Given the description of an element on the screen output the (x, y) to click on. 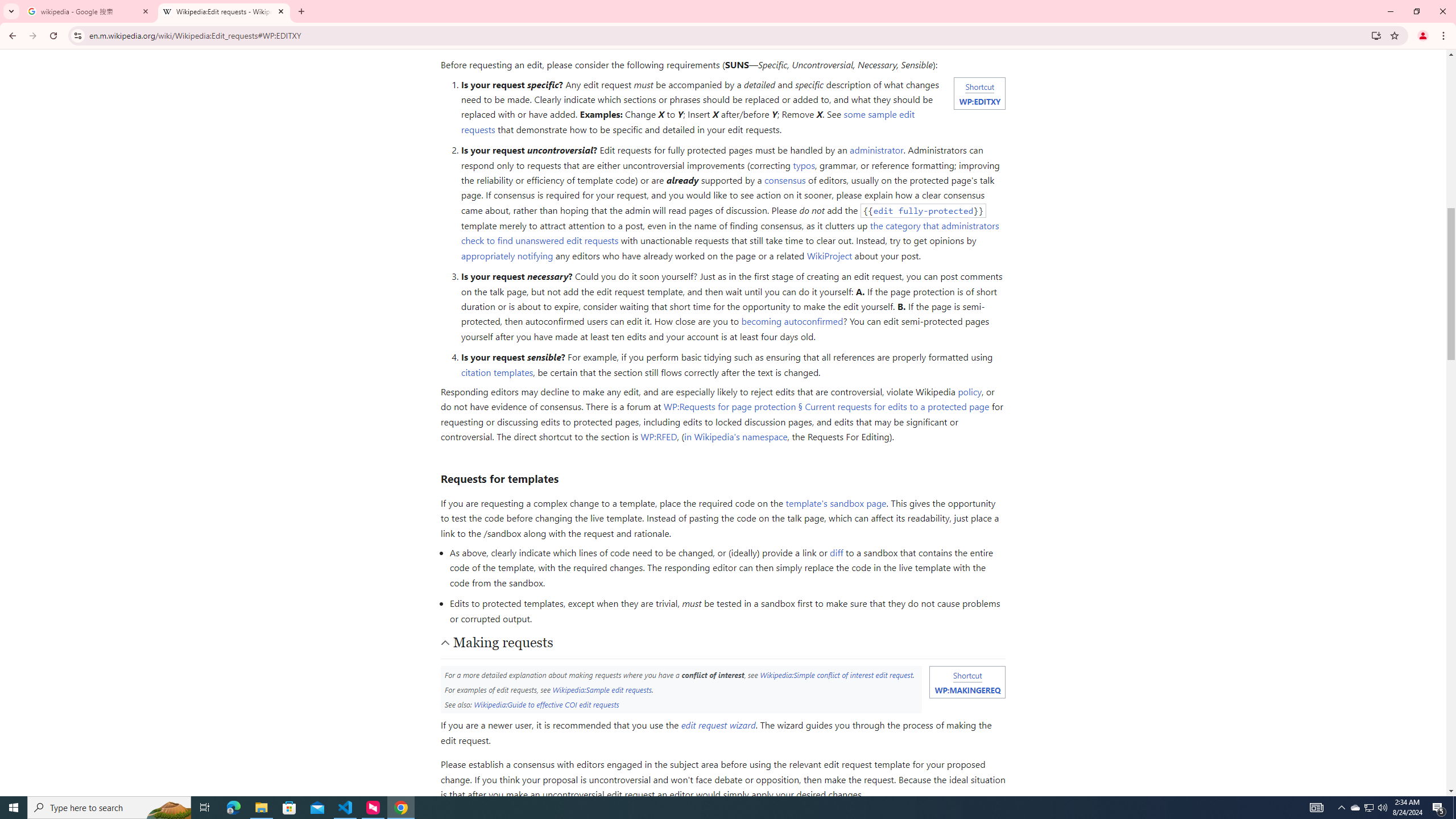
edit request wizard (718, 725)
Reload (52, 35)
WikiProject (829, 254)
Wikipedia:Simple conflict of interest edit request (836, 674)
citation templates (496, 372)
View site information (77, 35)
edit fully-protected (923, 210)
WP:MAKINGEREQ (967, 689)
Wikipedia:Sample edit requests (601, 688)
New Tab (301, 11)
template's sandbox page (835, 502)
Shortcut (967, 674)
Forward (32, 35)
some sample edit requests (687, 121)
